Given the description of an element on the screen output the (x, y) to click on. 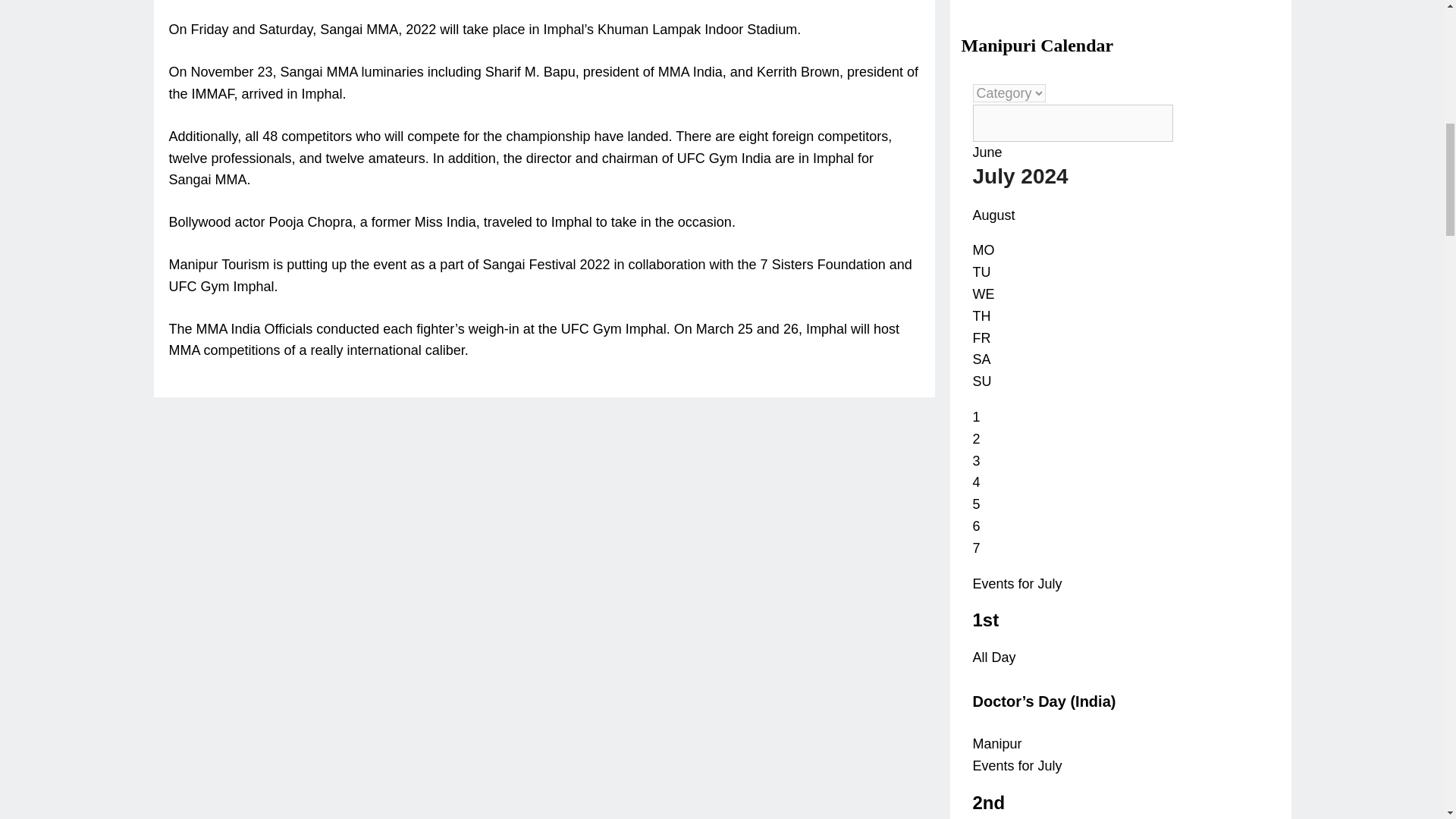
June (986, 151)
August (993, 215)
1 (975, 417)
Manipuri Calendar (1036, 45)
